Given the description of an element on the screen output the (x, y) to click on. 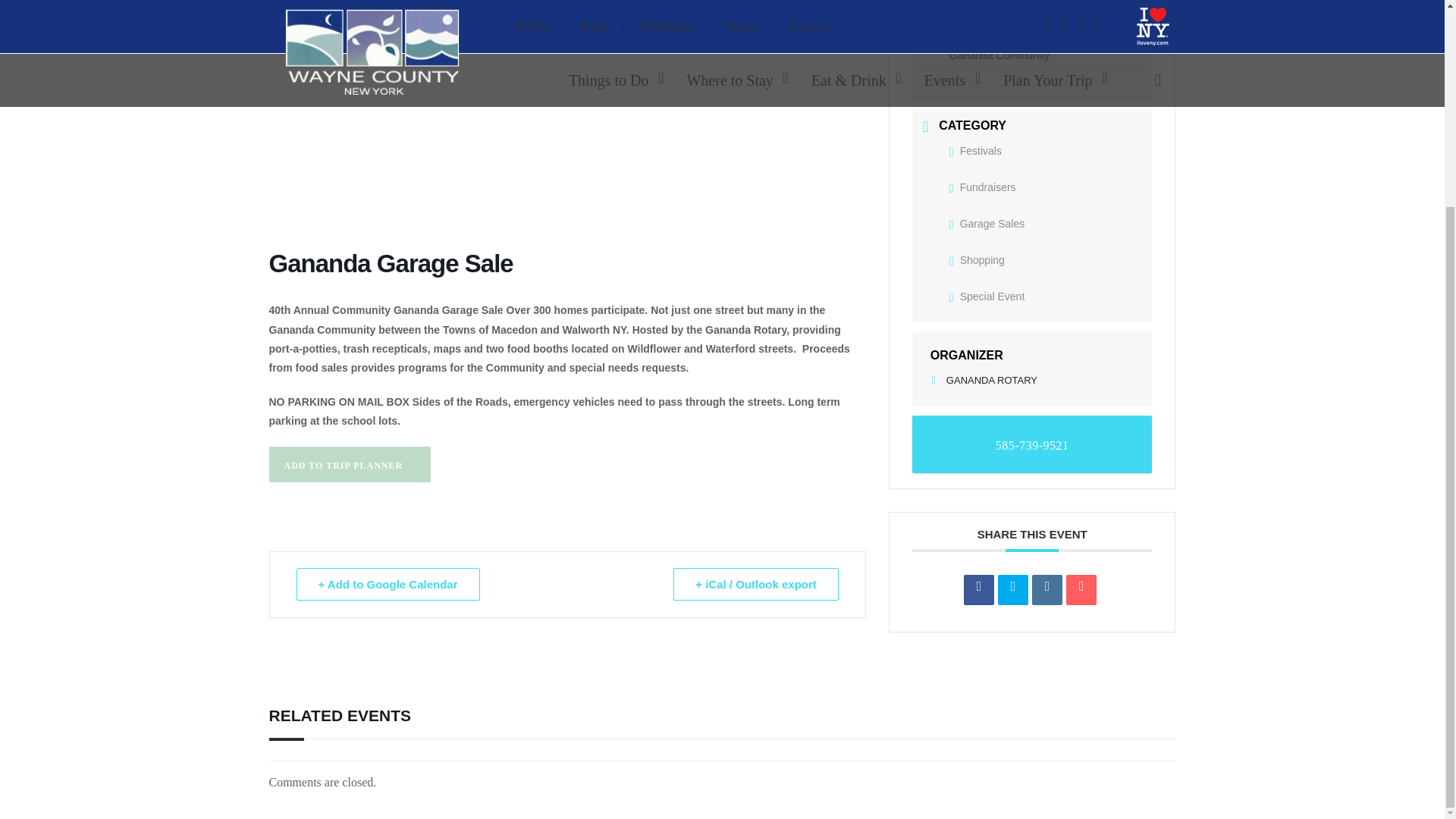
Email (1080, 589)
Tweet (1012, 589)
Share on Facebook (978, 589)
Linkedin (1047, 589)
